Given the description of an element on the screen output the (x, y) to click on. 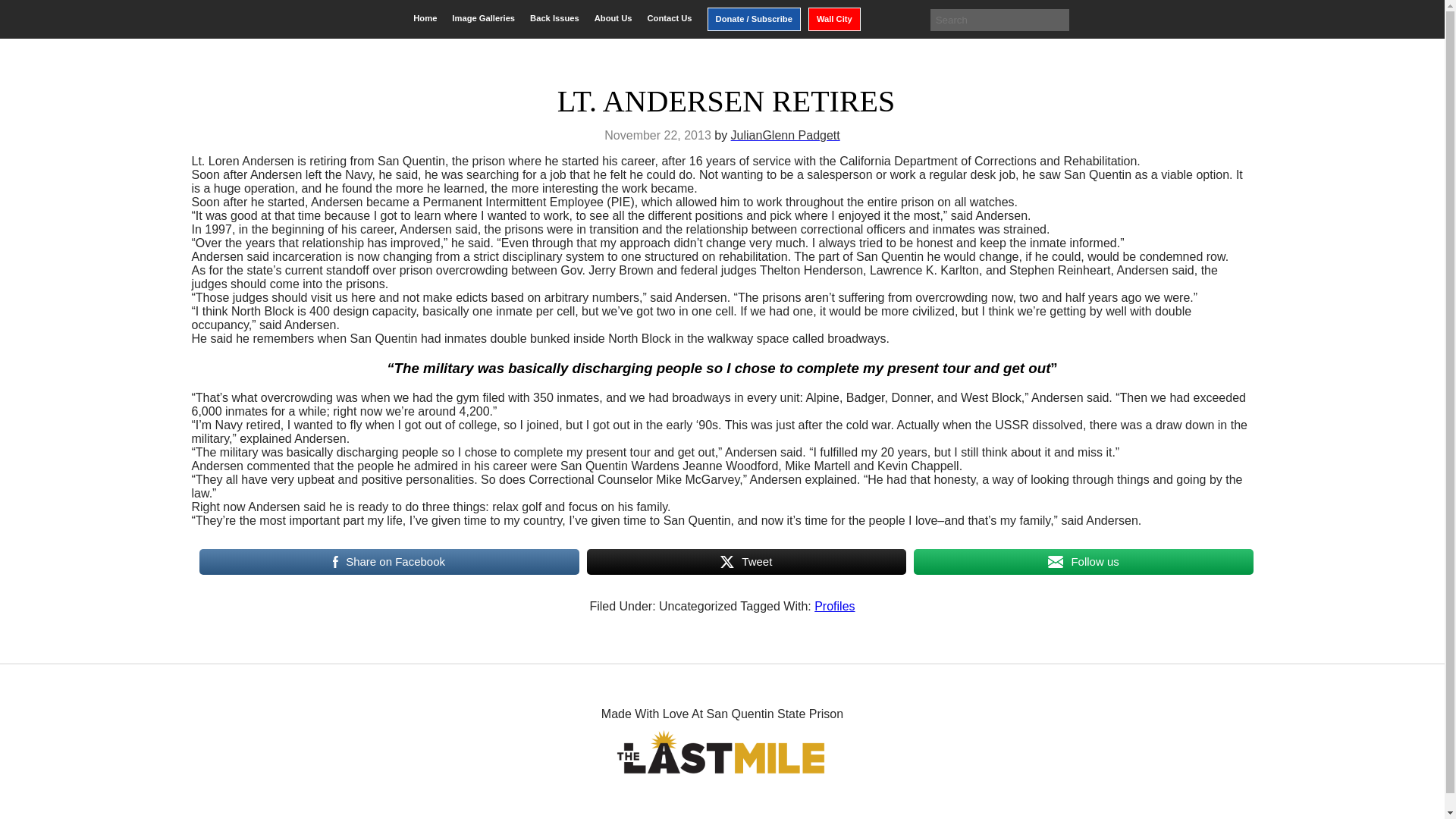
Follow us (1083, 561)
Profiles (833, 605)
Share on Facebook (388, 561)
Contact Us (668, 17)
Tweet (745, 561)
Back Issues (554, 17)
Search (22, 12)
Home (424, 17)
Image Galleries (483, 17)
JulianGlenn Padgett (785, 134)
